Given the description of an element on the screen output the (x, y) to click on. 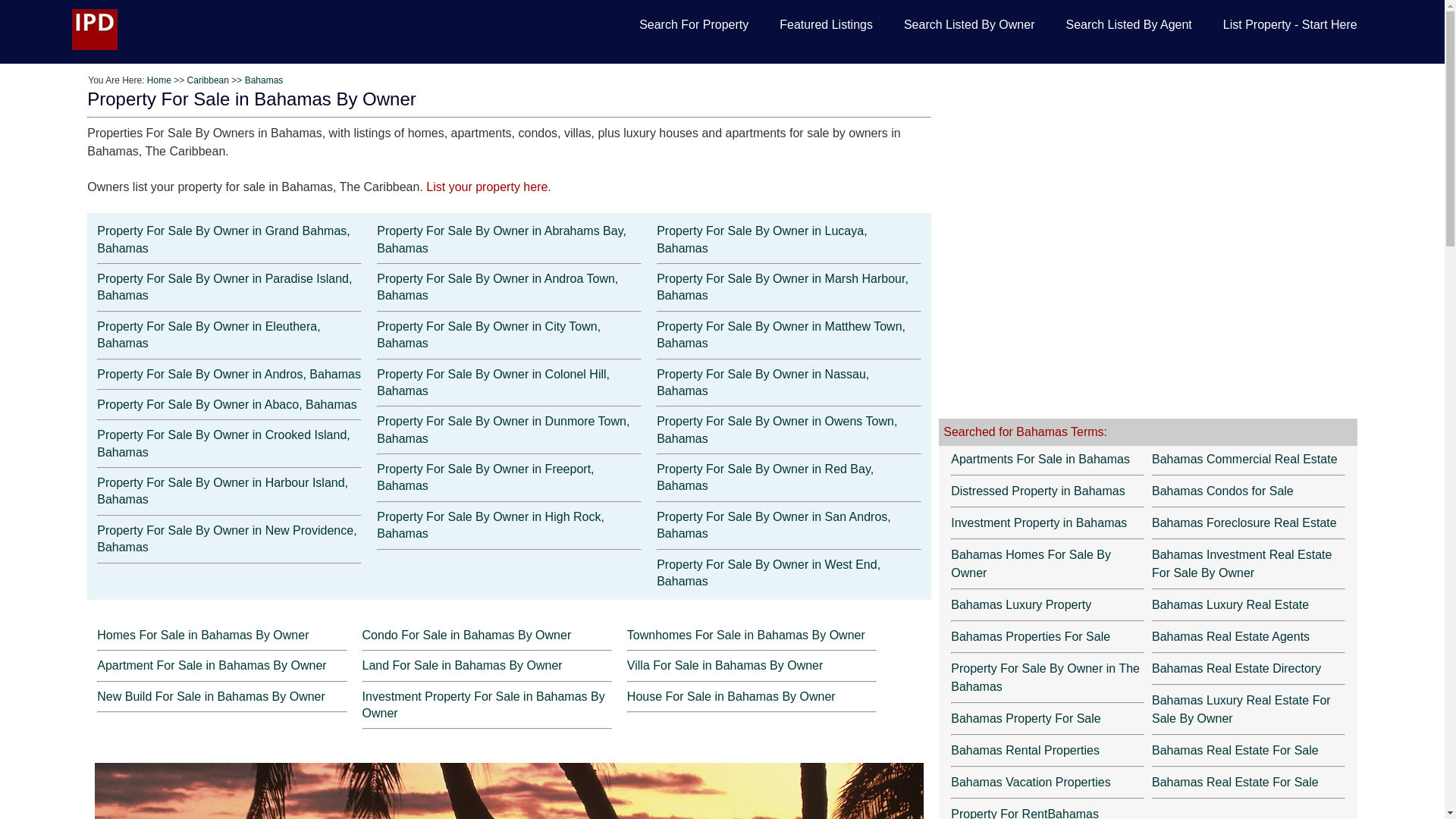
Property For Sale By Owner in Abrahams Bay, Bahamas (501, 238)
Property For Sale By Owner in Harbour Island, Bahamas (222, 490)
Property For Sale By Owner in Dunmore Town, Bahamas (502, 429)
Property For Sale By Owner in Freeport, Bahamas (485, 477)
Search For Property (693, 26)
Property For Sale By Owner in Androa Town, Bahamas (497, 286)
Property For Sale By Owner in Crooked Island, Bahamas (223, 442)
List Property - Start Here (1290, 26)
Home (159, 80)
Property For Sale By Owner in Abaco, Bahamas (226, 404)
Property For Sale By Owner in Grand Bahmas, Bahamas (223, 238)
Property For Sale By Owner in Andros, Bahamas (229, 373)
Property For Sale By Owner in Paradise Island, Bahamas (224, 286)
Property For Sale By Owner in Nassau, Bahamas (762, 382)
Property For Sale By Owner in Eleuthera, Bahamas (208, 334)
